Given the description of an element on the screen output the (x, y) to click on. 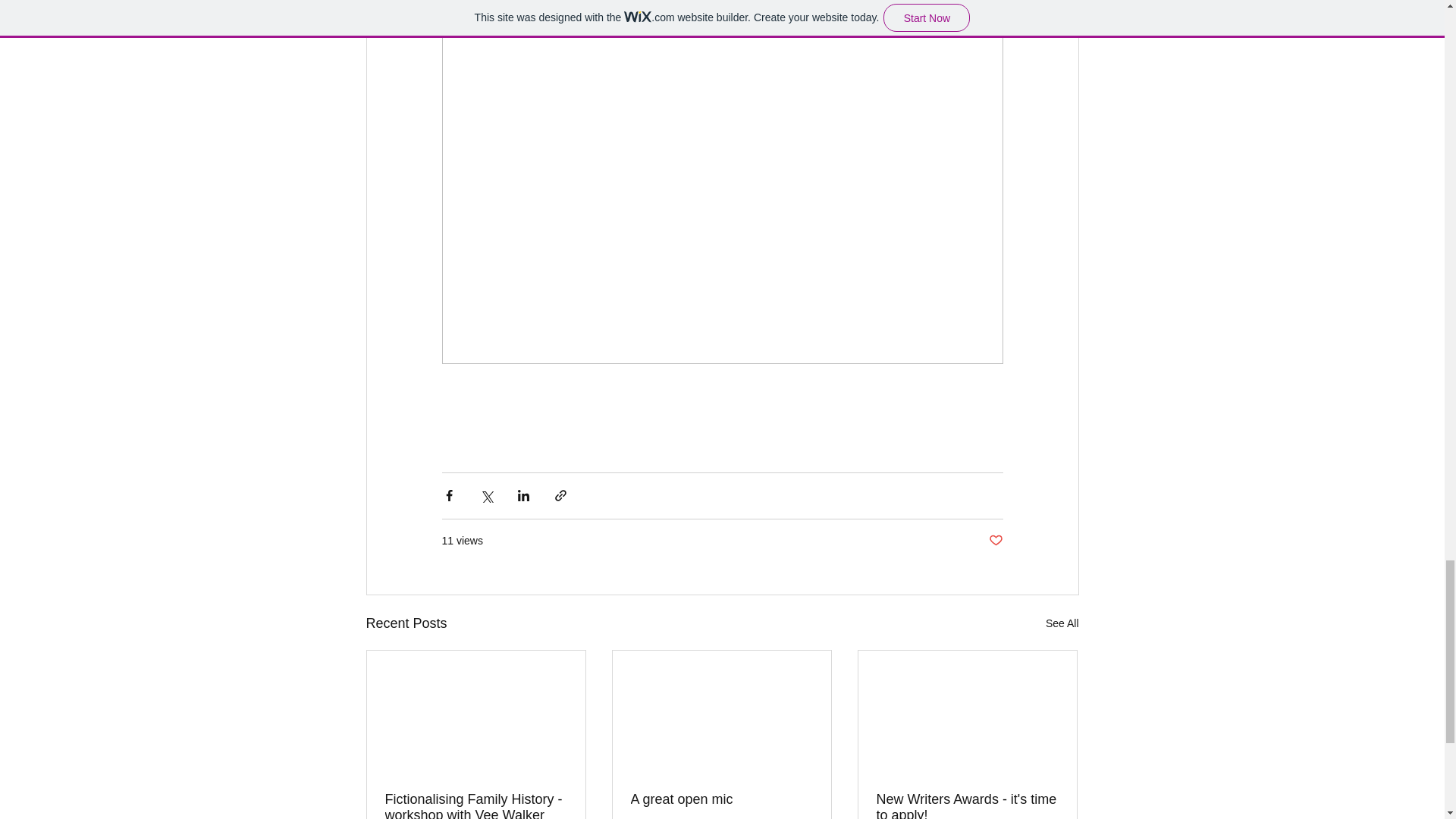
Fictionalising Family History - workshop with Vee Walker (476, 805)
See All (1061, 623)
A great open mic (721, 799)
New Writers Awards - it's time to apply! (967, 805)
Post not marked as liked (995, 540)
